Given the description of an element on the screen output the (x, y) to click on. 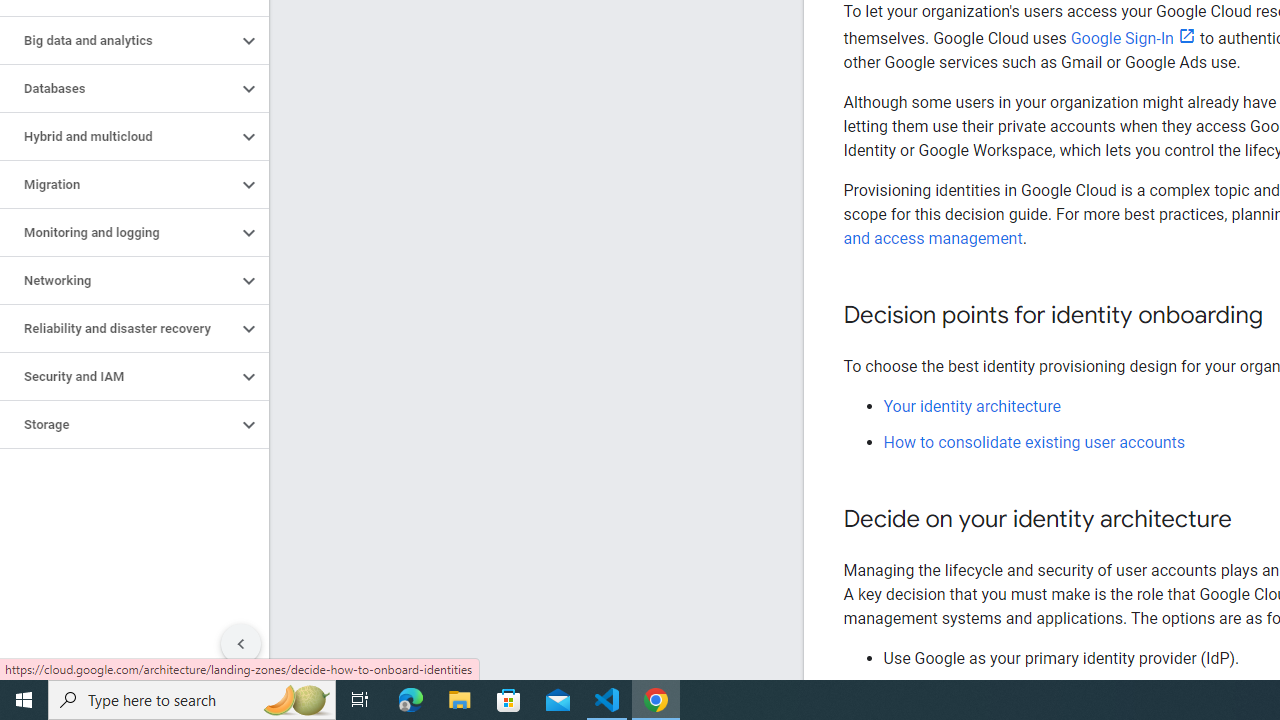
Migration (118, 184)
Hide side navigation (241, 643)
Big data and analytics (118, 40)
Your identity architecture (972, 406)
Storage (118, 425)
Monitoring and logging (118, 232)
How to consolidate existing user accounts (1034, 442)
Databases (118, 88)
Hybrid and multicloud (118, 137)
Reliability and disaster recovery (118, 328)
Security and IAM (118, 376)
Networking (118, 281)
Google Sign-In (1132, 38)
